Given the description of an element on the screen output the (x, y) to click on. 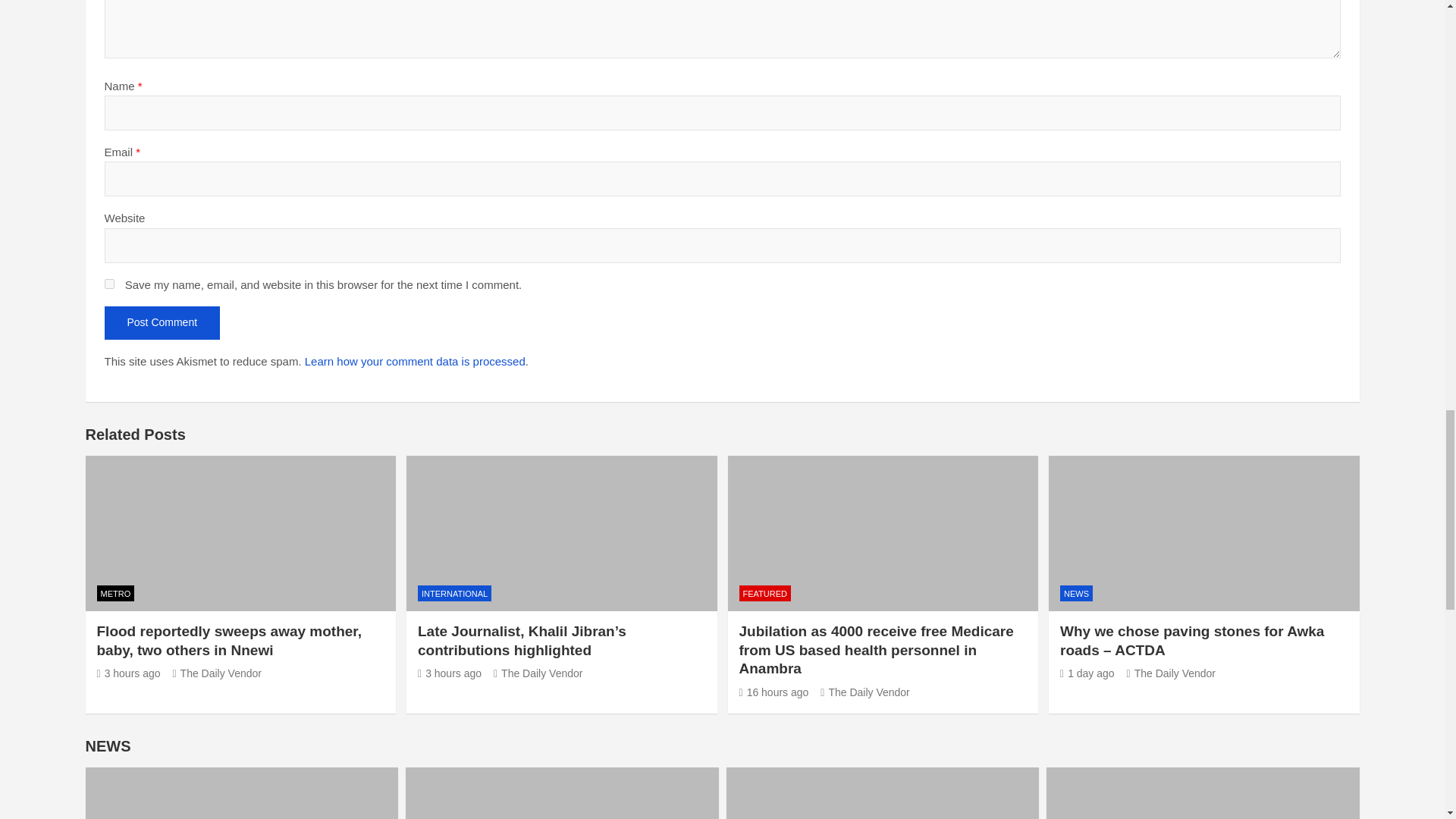
yes (109, 284)
Post Comment (162, 322)
